Given the description of an element on the screen output the (x, y) to click on. 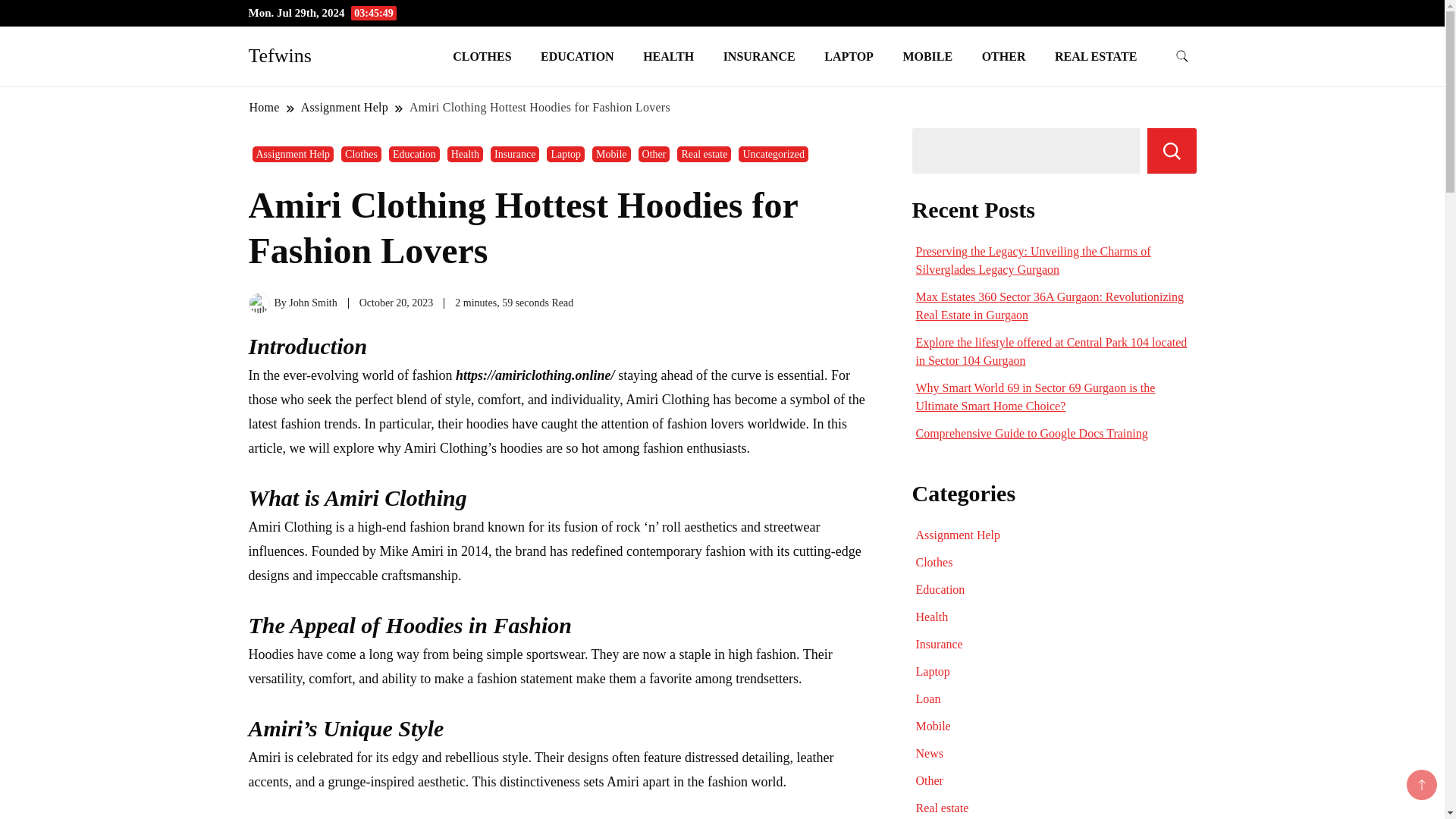
Insurance (514, 154)
Mobile (611, 154)
John Smith (312, 302)
Tefwins (279, 55)
Real estate (703, 154)
Clothes (360, 154)
LAPTOP (848, 56)
Laptop (566, 154)
MOBILE (927, 56)
INSURANCE (759, 56)
Health (464, 154)
OTHER (1004, 56)
Education (413, 154)
EDUCATION (577, 56)
Assignment Help (292, 154)
